Given the description of an element on the screen output the (x, y) to click on. 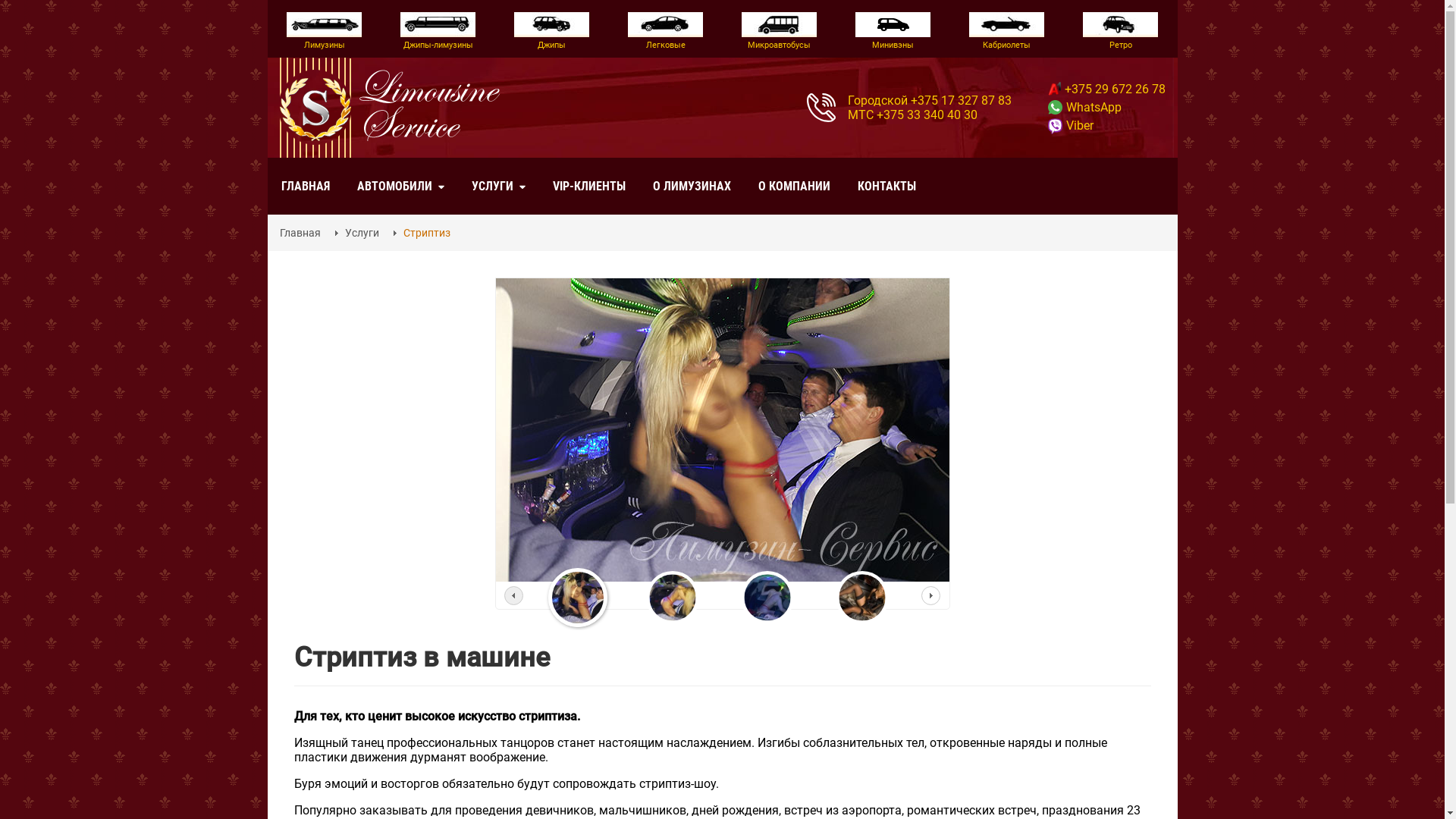
Viber Element type: text (1070, 125)
WhatsApp Element type: text (1084, 107)
+375 29 672 26 78 Element type: text (1106, 88)
